Given the description of an element on the screen output the (x, y) to click on. 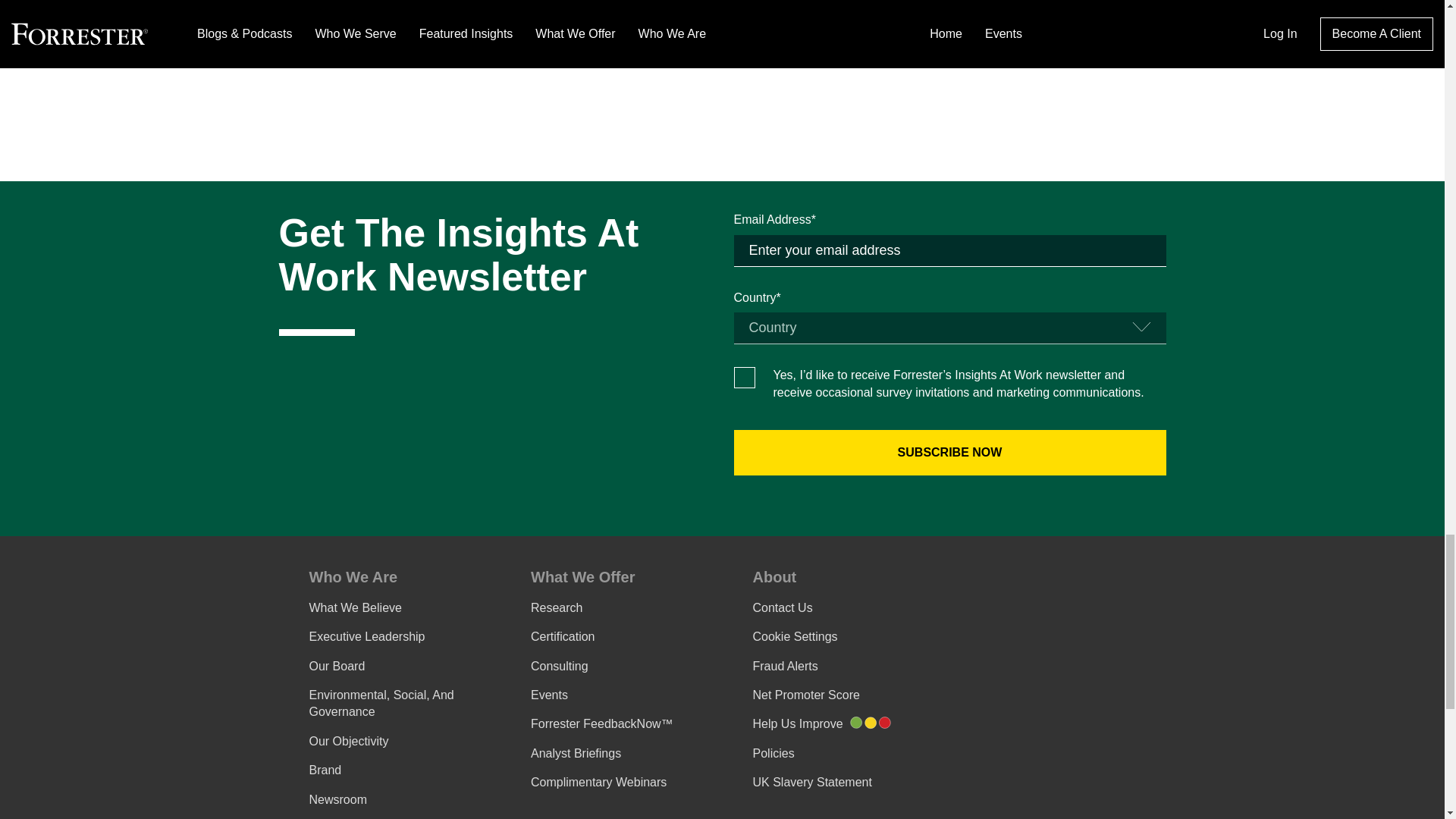
Subscribe Now (949, 452)
